Given the description of an element on the screen output the (x, y) to click on. 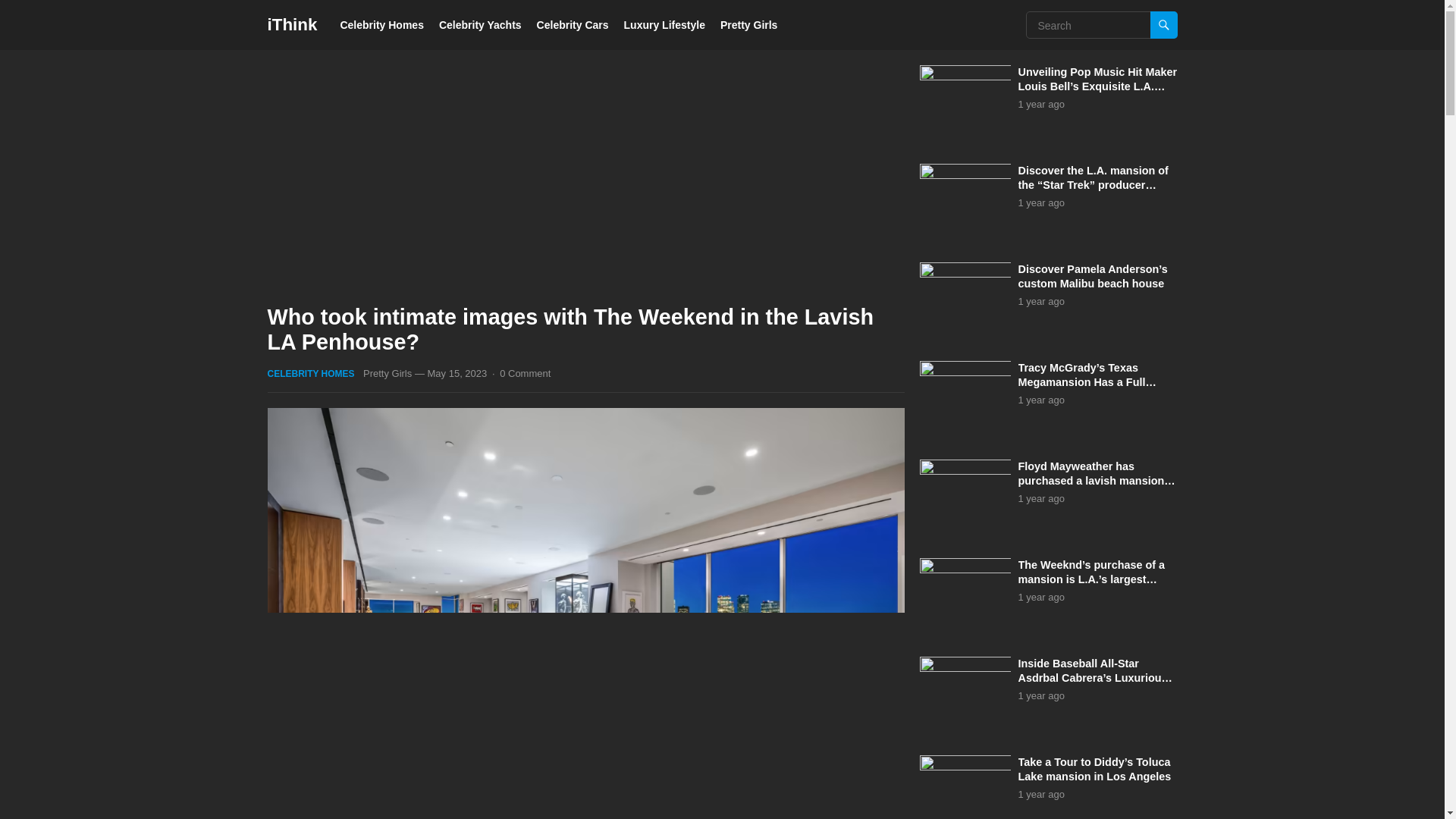
Celebrity Cars (572, 24)
iThink (291, 24)
Posts by Pretty Girls (387, 373)
0 Comment (524, 373)
Luxury Lifestyle (664, 24)
Pretty Girls (748, 24)
Celebrity Yachts (480, 24)
CELEBRITY HOMES (309, 373)
Pretty Girls (387, 373)
